Given the description of an element on the screen output the (x, y) to click on. 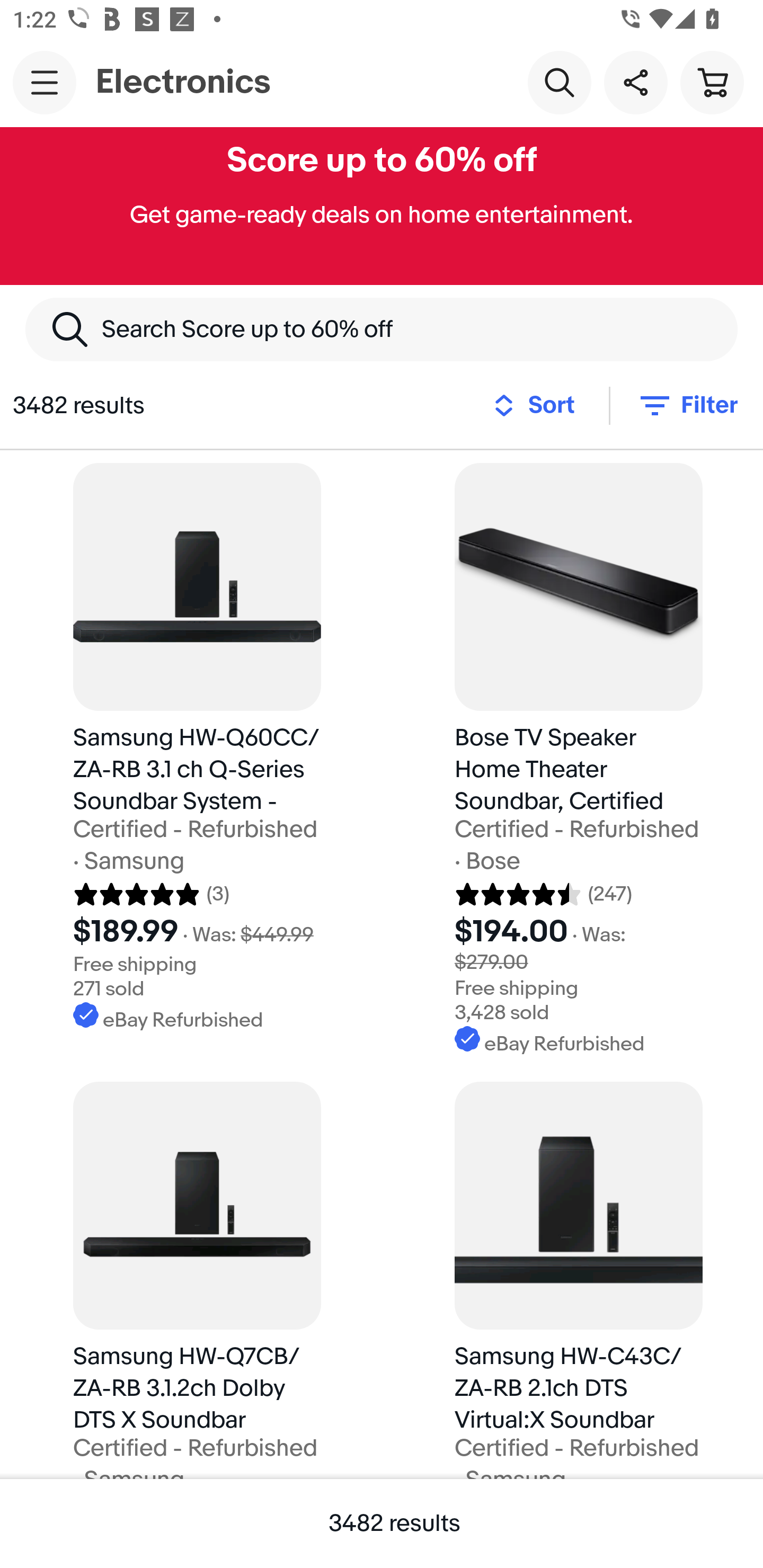
Main navigation, open (44, 82)
Search (559, 81)
Share this page (635, 81)
Cart button shopping cart (711, 81)
Search Score up to 60% off (381, 328)
Sort (538, 405)
Filter (686, 405)
